Given the description of an element on the screen output the (x, y) to click on. 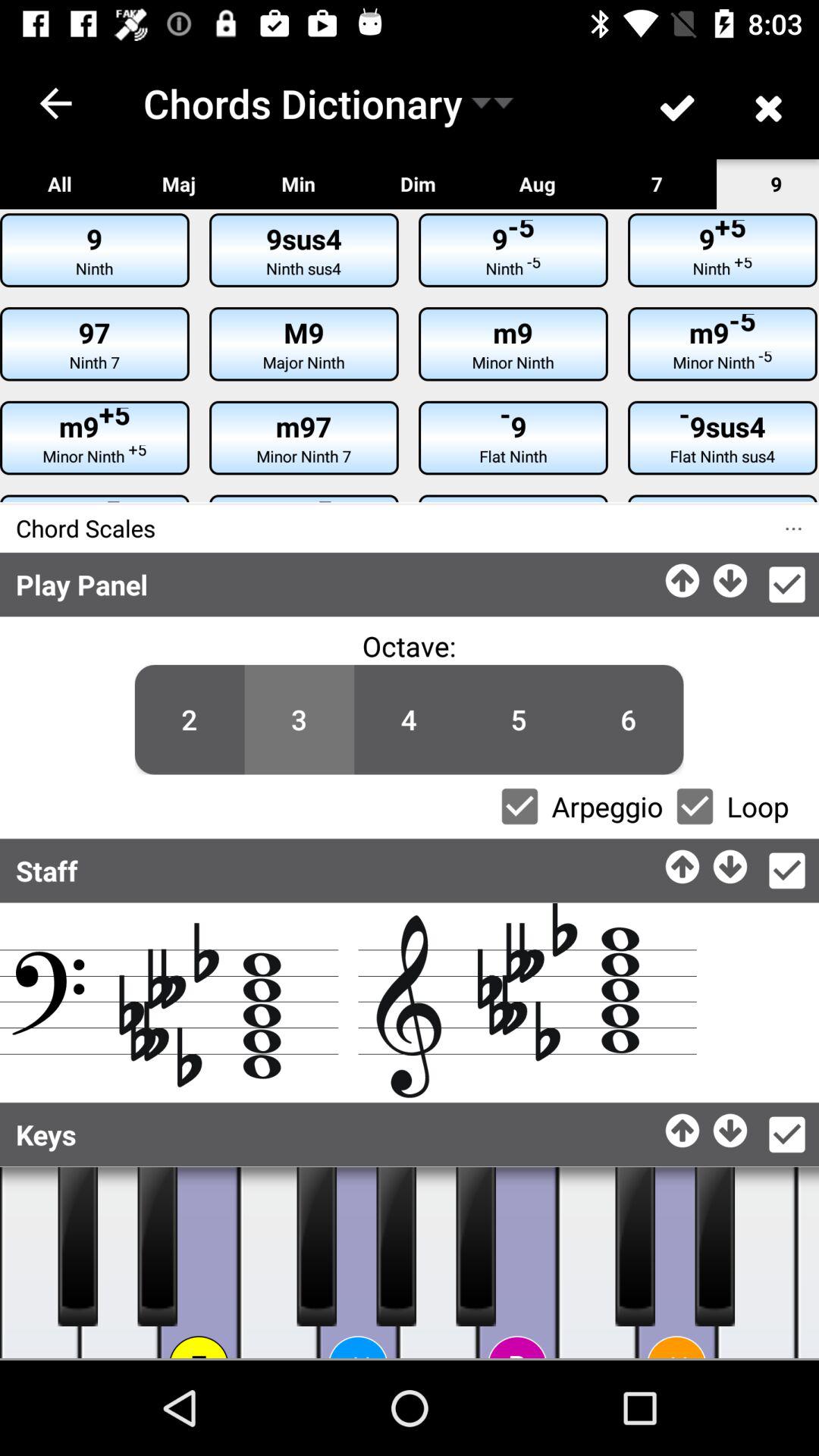
go to tick option (787, 584)
